Given the description of an element on the screen output the (x, y) to click on. 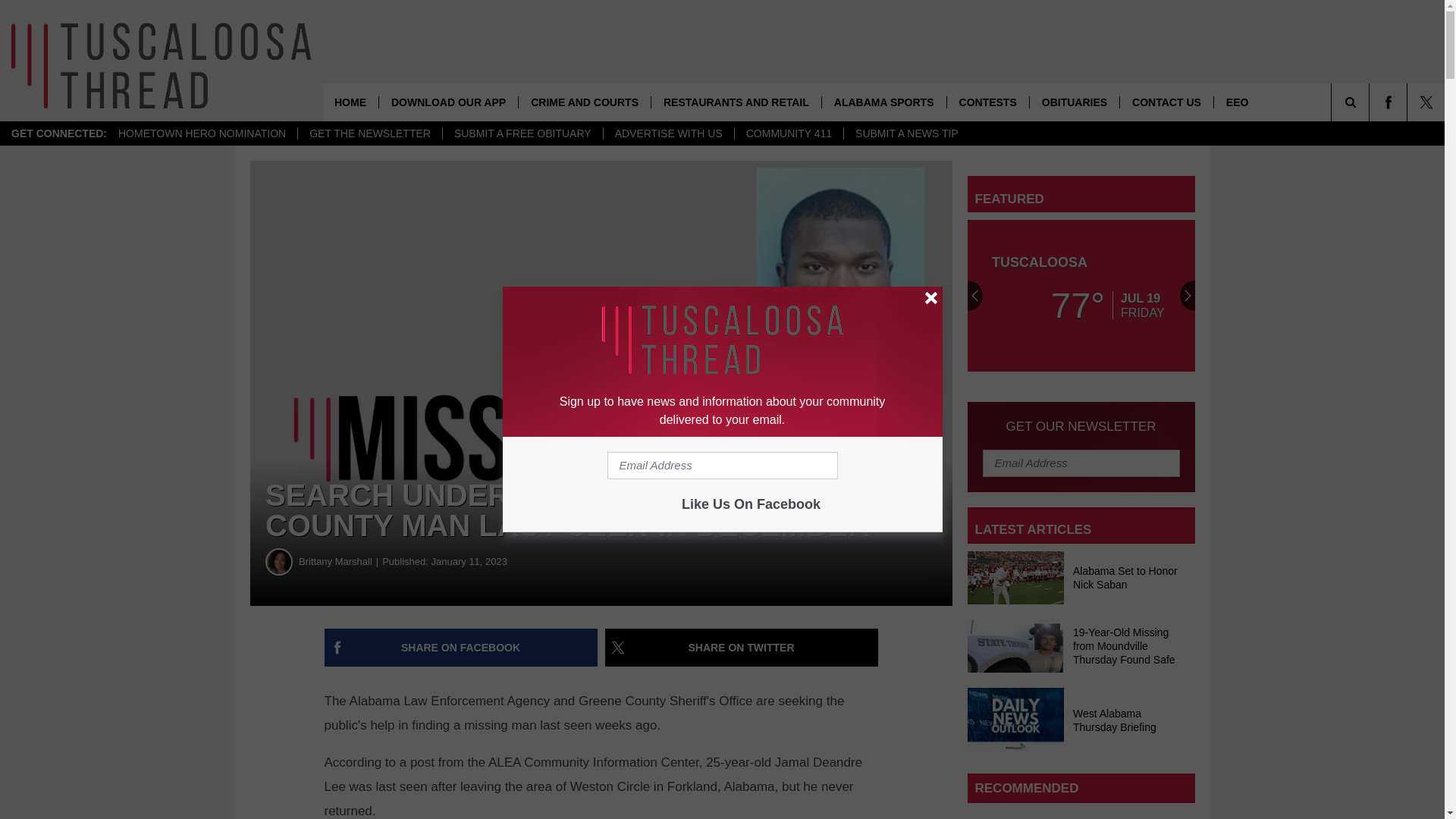
OBITUARIES (1074, 102)
SUBMIT A FREE OBITUARY (522, 133)
CONTESTS (987, 102)
COMMUNITY 411 (788, 133)
Share on Twitter (741, 647)
HOME (349, 102)
CONTACT US (1165, 102)
SEARCH (1371, 102)
Share on Facebook (460, 647)
DOWNLOAD OUR APP (448, 102)
SEARCH (1371, 102)
GET THE NEWSLETTER (369, 133)
SUBMIT A NEWS TIP (906, 133)
Tuscaloosa Weather (1081, 295)
Email Address (722, 465)
